Given the description of an element on the screen output the (x, y) to click on. 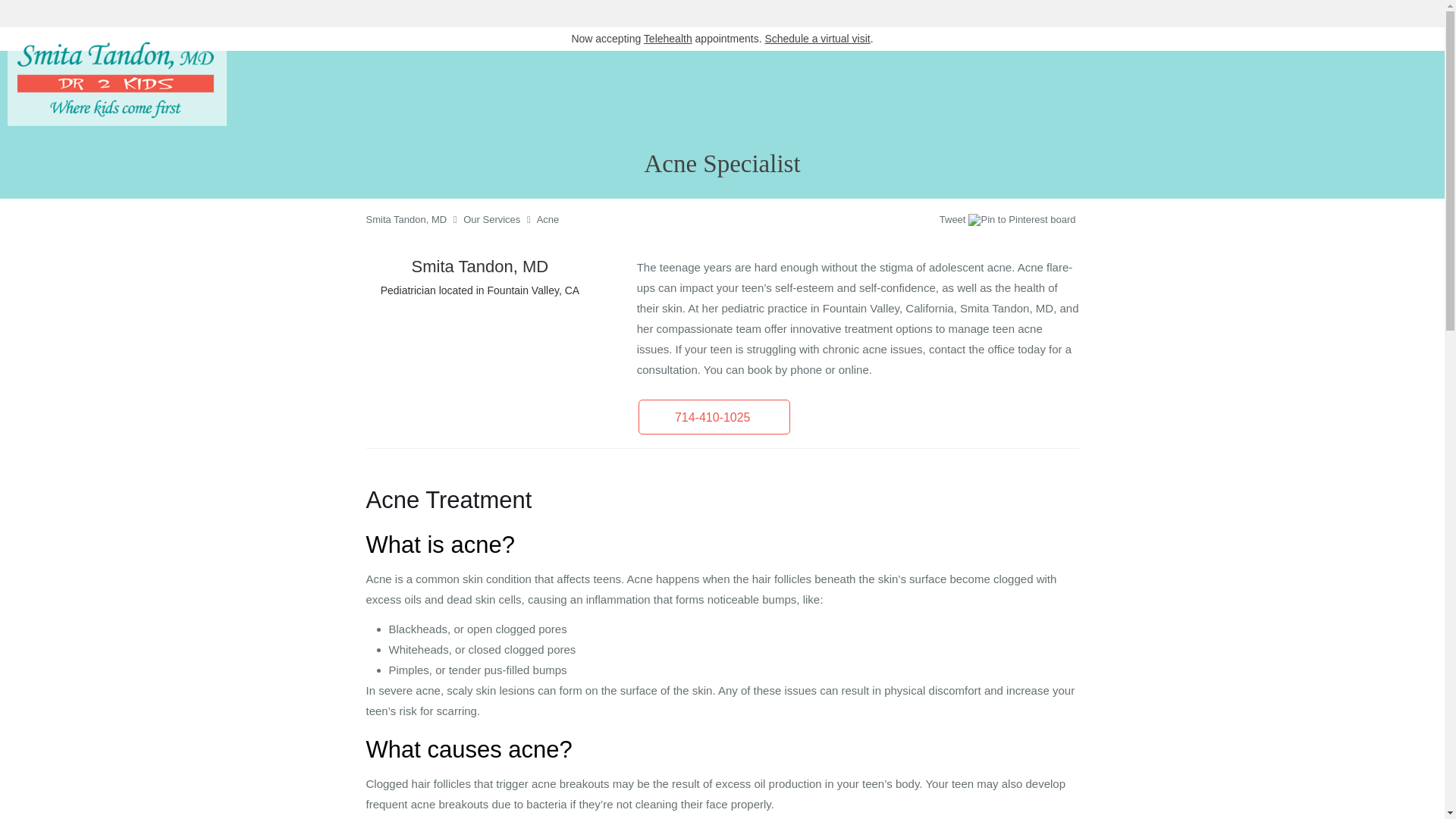
Facebook social button (880, 221)
Telehealth (668, 38)
Schedule a virtual visit (816, 38)
Skip to main content (74, 34)
